Given the description of an element on the screen output the (x, y) to click on. 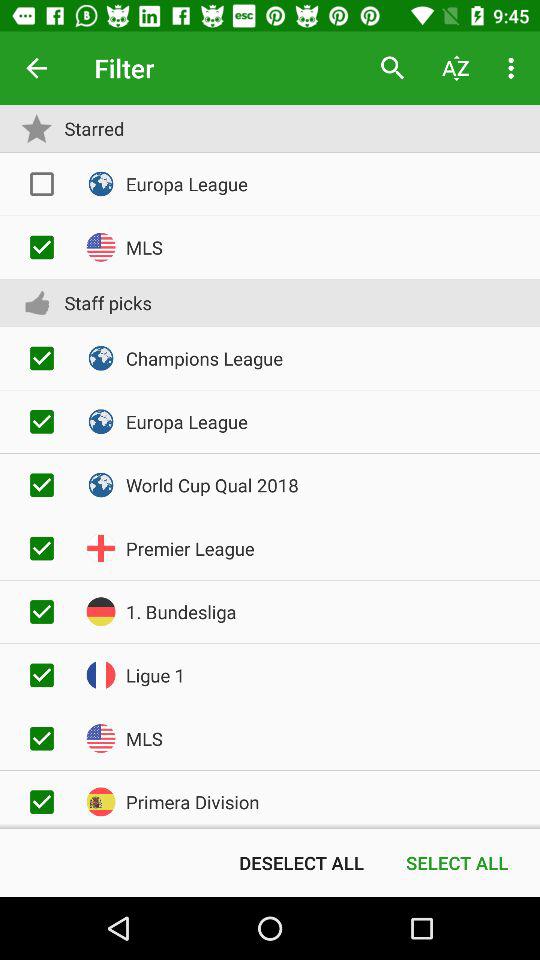
launch item to the left of the filter (36, 68)
